Given the description of an element on the screen output the (x, y) to click on. 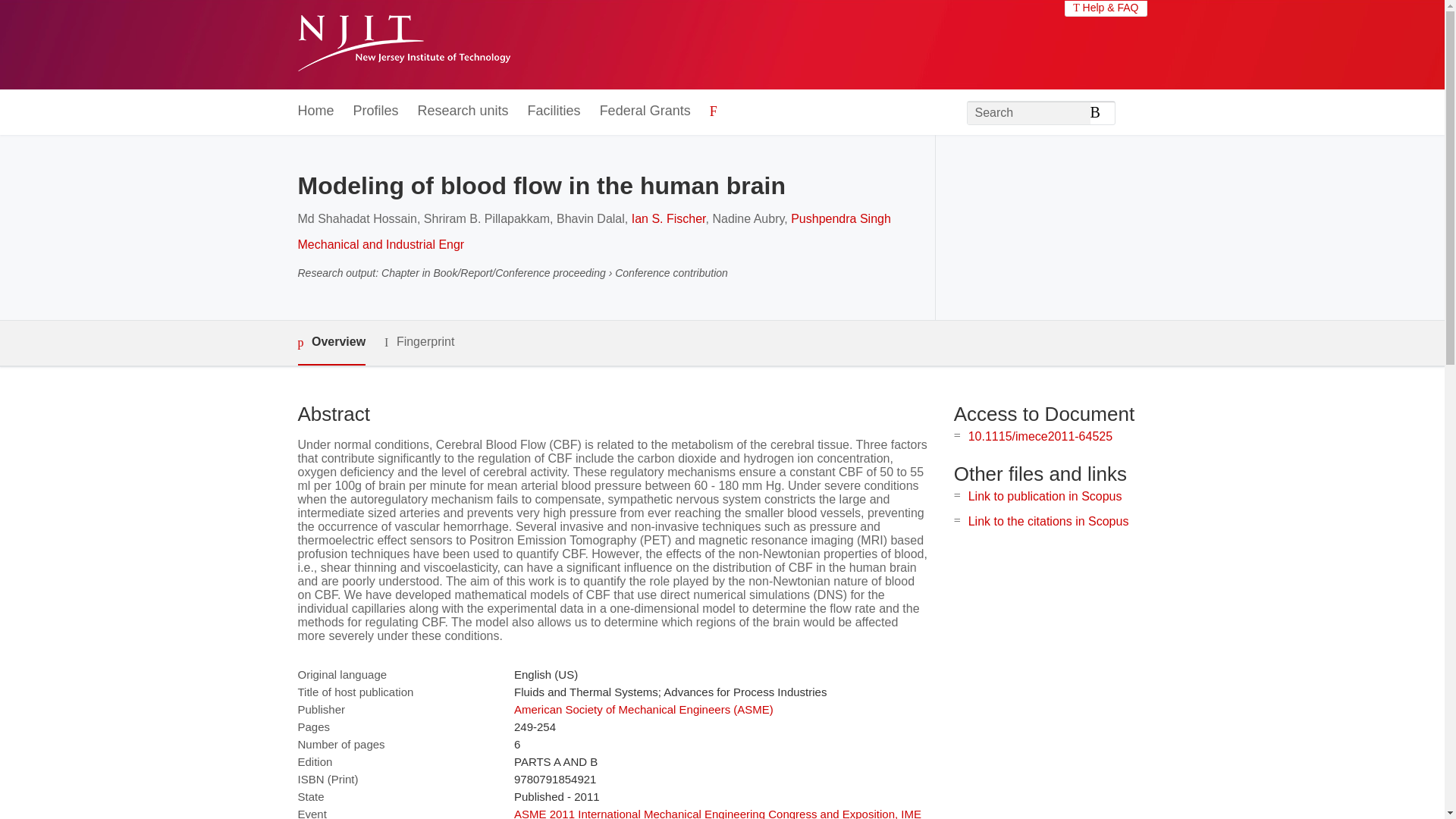
Research units (462, 111)
Mechanical and Industrial Engr (380, 244)
Link to publication in Scopus (1045, 495)
Link to the citations in Scopus (1048, 521)
Profiles (375, 111)
Fingerprint (419, 342)
Overview (331, 343)
Federal Grants (644, 111)
Facilities (553, 111)
New Jersey Institute of Technology Home (403, 44)
Ian S. Fischer (668, 218)
Pushpendra Singh (840, 218)
